Given the description of an element on the screen output the (x, y) to click on. 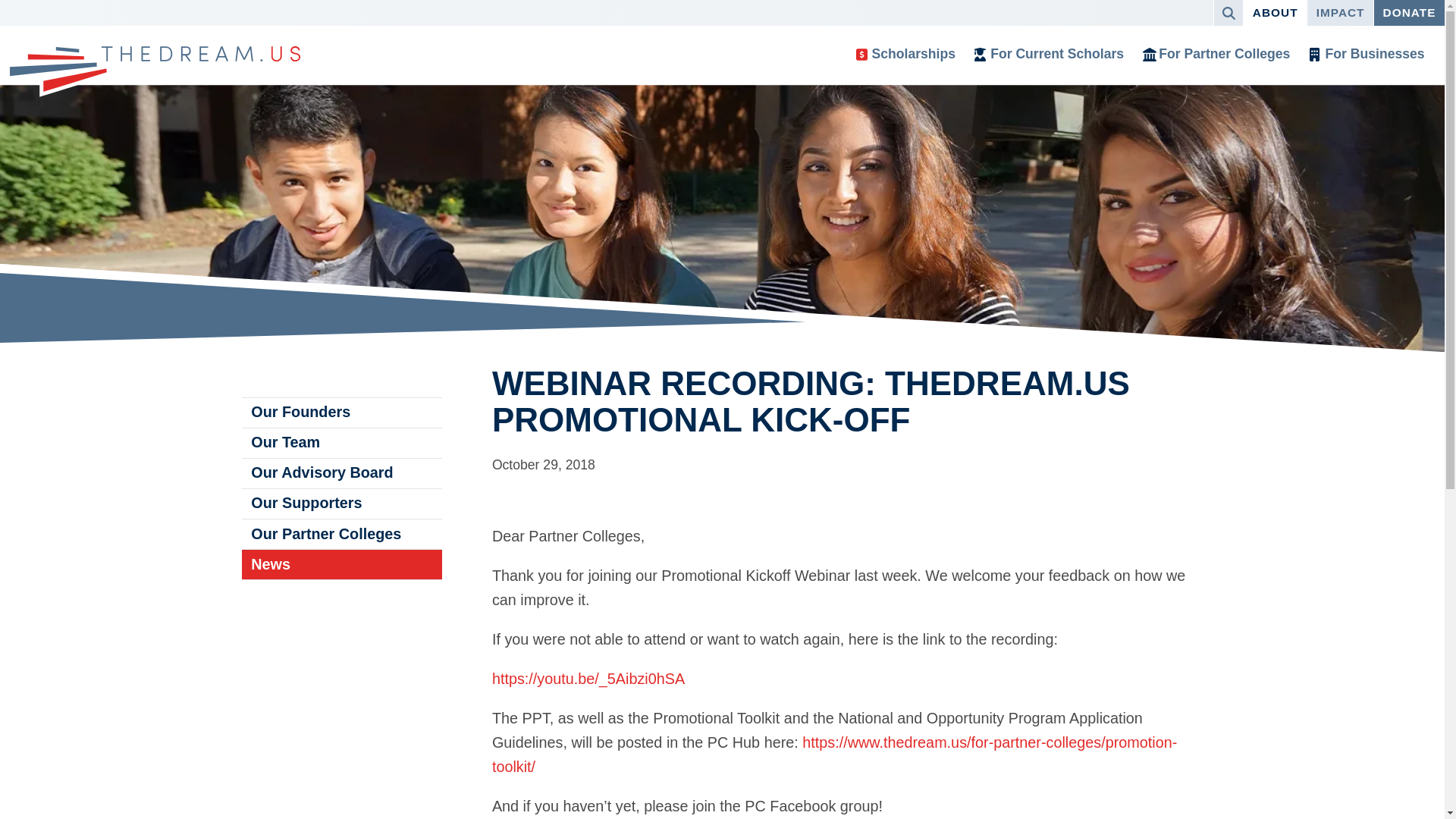
SEARCH (1227, 12)
ABOUT (1274, 12)
For Businesses (1367, 54)
IMPACT (1340, 12)
For Current Scholars (1049, 54)
Scholarships (905, 54)
Search for: (1224, 12)
For Partner Colleges (1217, 54)
